Given the description of an element on the screen output the (x, y) to click on. 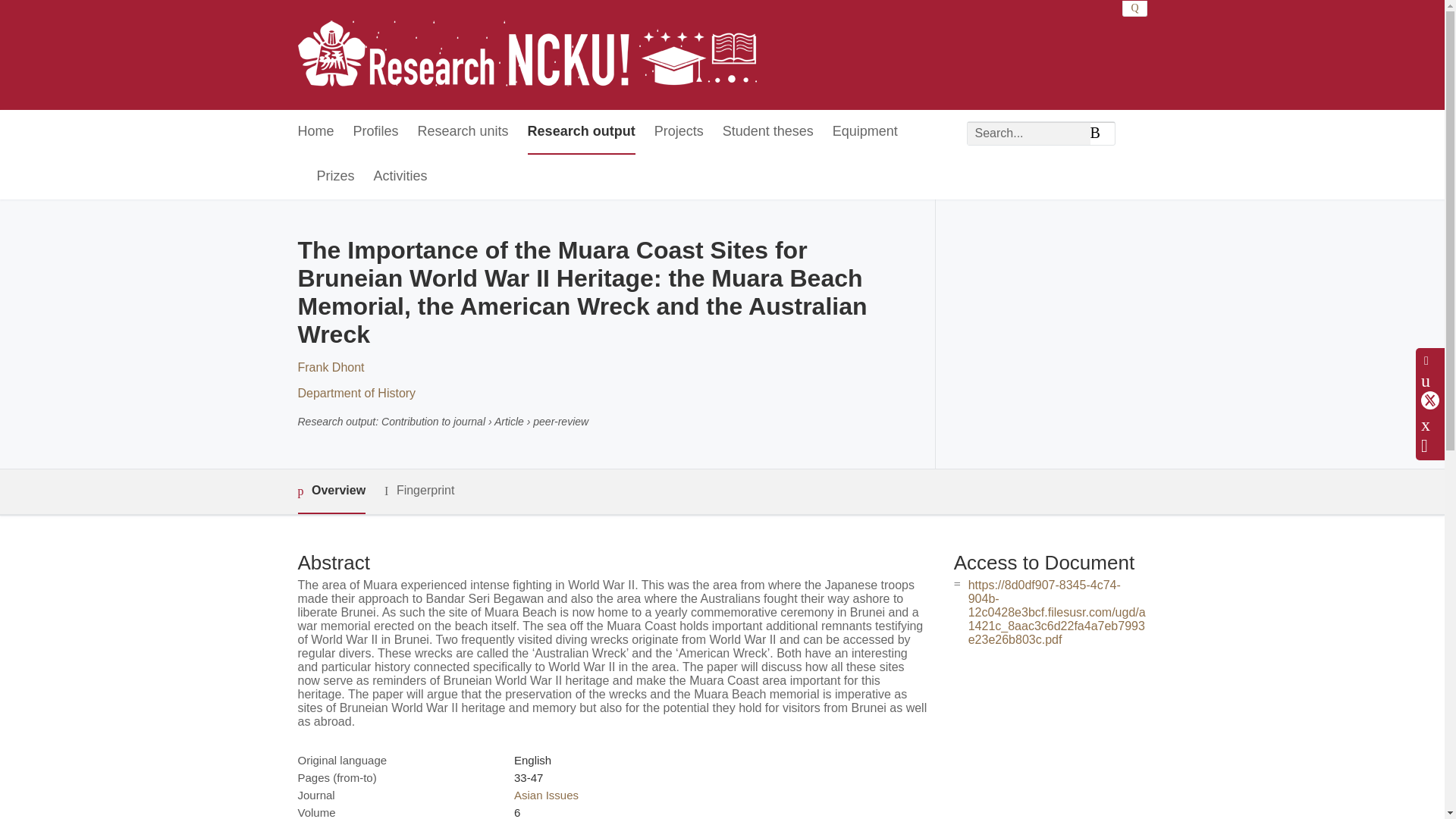
Research units (462, 131)
Profiles (375, 131)
Activities (401, 176)
Overview (331, 491)
Department of History (355, 392)
Research output (580, 131)
Projects (678, 131)
Student theses (767, 131)
Equipment (865, 131)
National Cheng Kung University Home (526, 54)
